Given the description of an element on the screen output the (x, y) to click on. 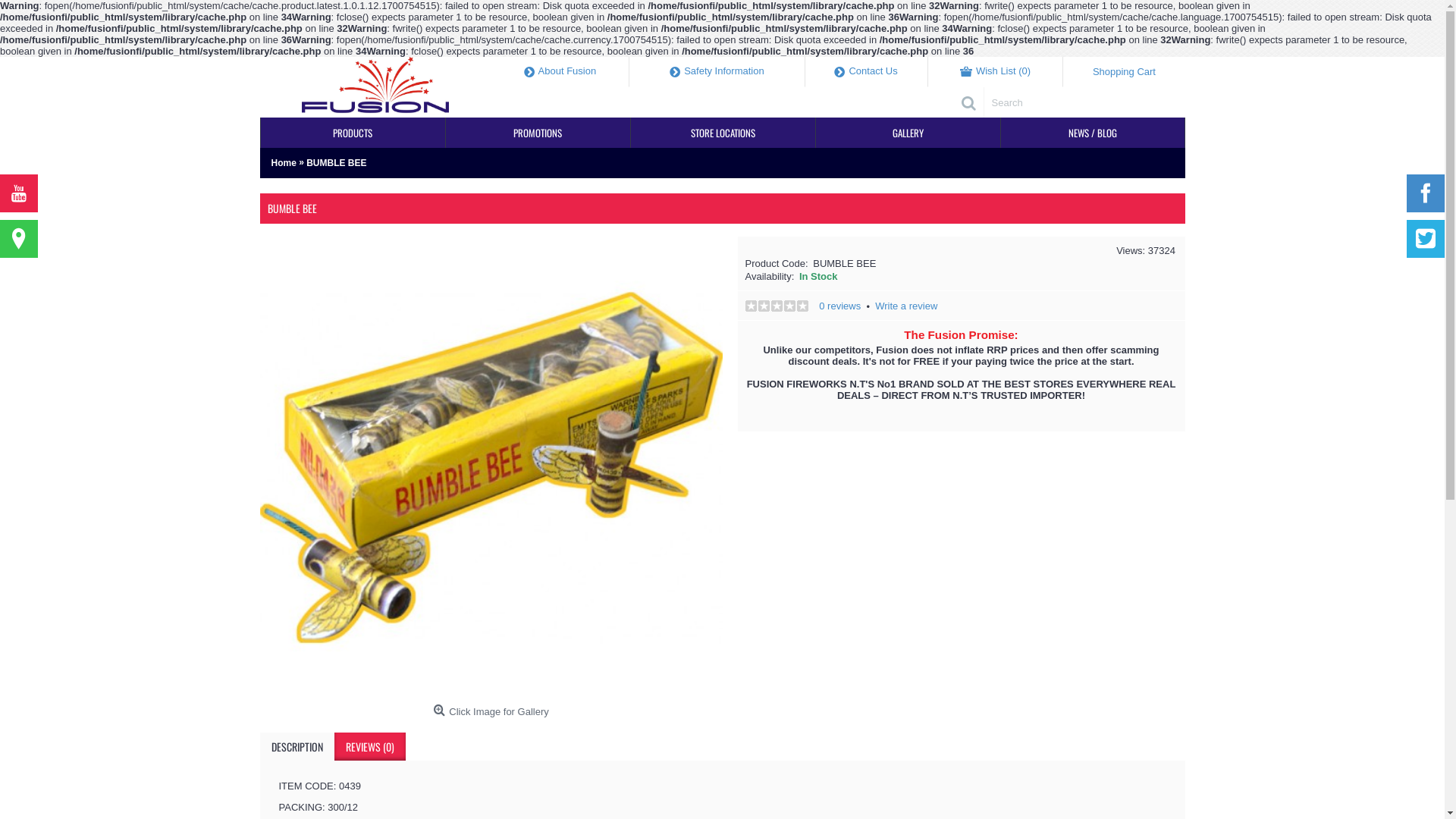
Home Element type: text (283, 162)
PRODUCTS Element type: text (352, 132)
BUMBLE BEE Element type: text (336, 162)
REVIEWS (0) Element type: text (368, 746)
0 reviews Element type: text (839, 305)
About Fusion Element type: text (560, 71)
GALLERY Element type: text (907, 132)
Fusion Fireworks Element type: hover (374, 86)
Safety Information Element type: text (716, 71)
PROMOTIONS Element type: text (537, 132)
STORE LOCATIONS Element type: text (722, 132)
Shopping Cart Element type: text (1123, 71)
Write a review Element type: text (906, 305)
BUMBLE BEE Element type: hover (490, 467)
DESCRIPTION Element type: text (296, 746)
Wish List (0) Element type: text (995, 71)
Contact Us Element type: text (866, 71)
NEWS / BLOG Element type: text (1092, 132)
